Given the description of an element on the screen output the (x, y) to click on. 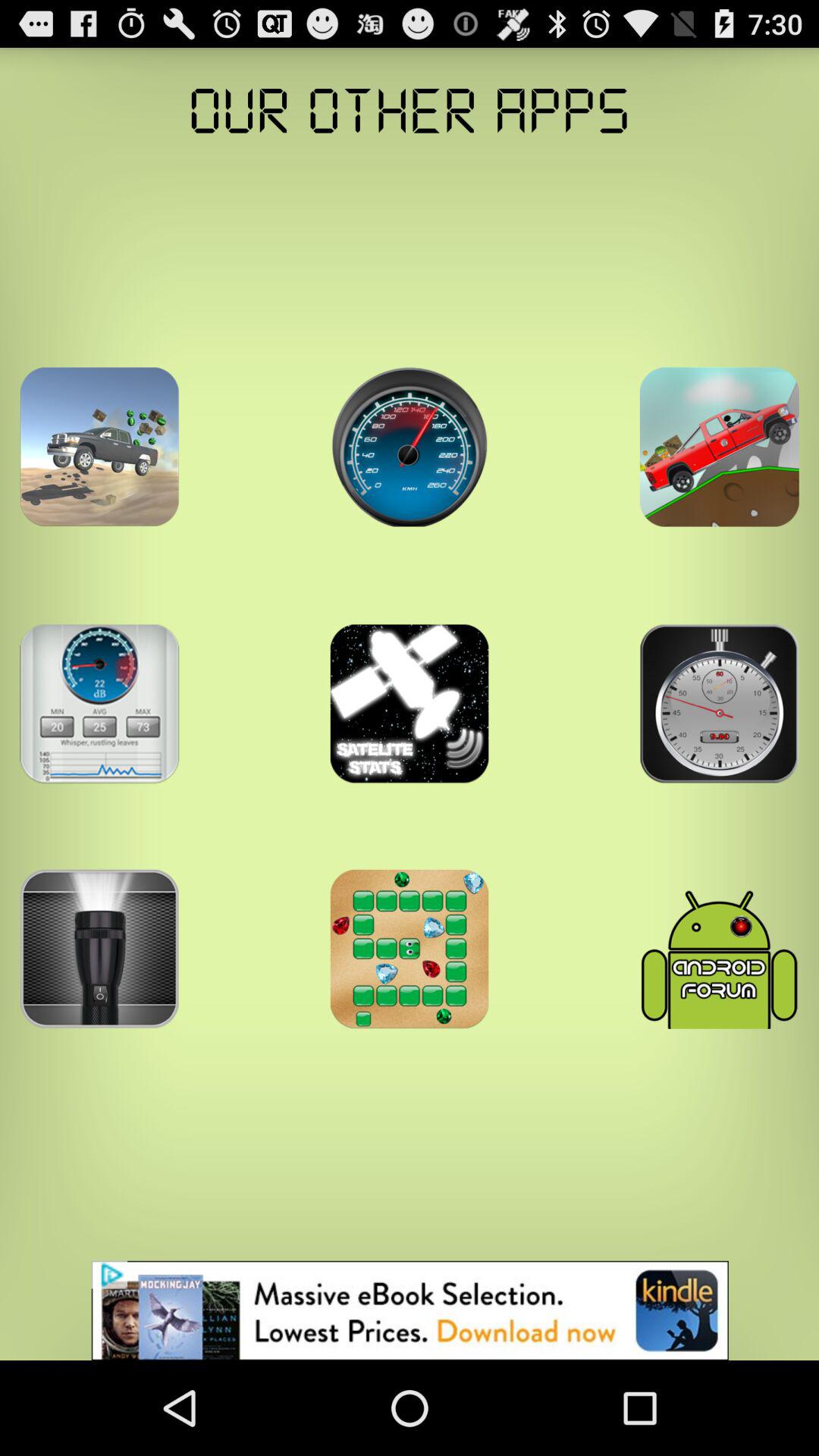
select game (719, 446)
